Given the description of an element on the screen output the (x, y) to click on. 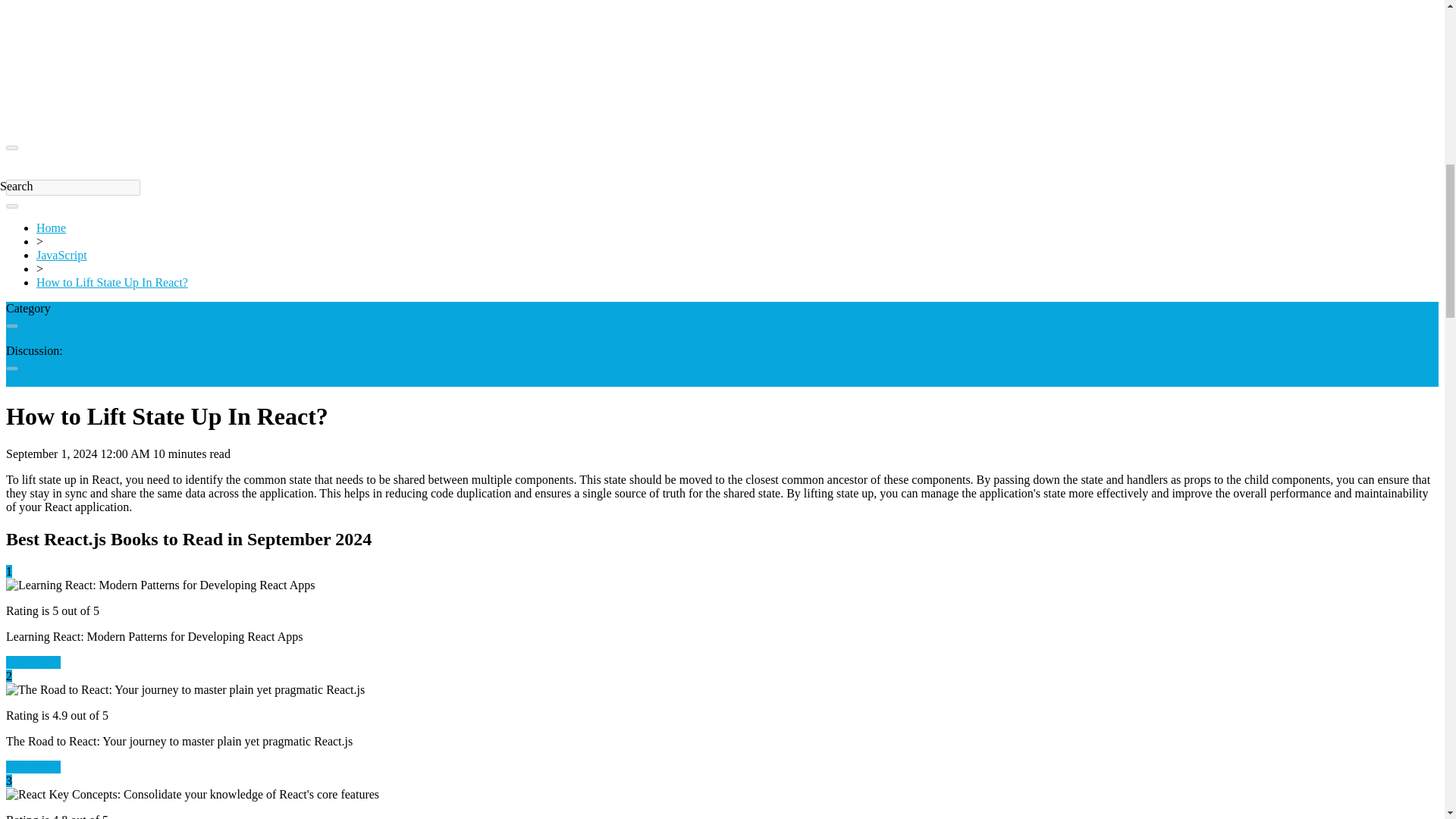
Home (50, 227)
Read Book (33, 662)
How to Lift State Up In React? (111, 282)
Read Book (33, 766)
JavaScript (61, 254)
